Given the description of an element on the screen output the (x, y) to click on. 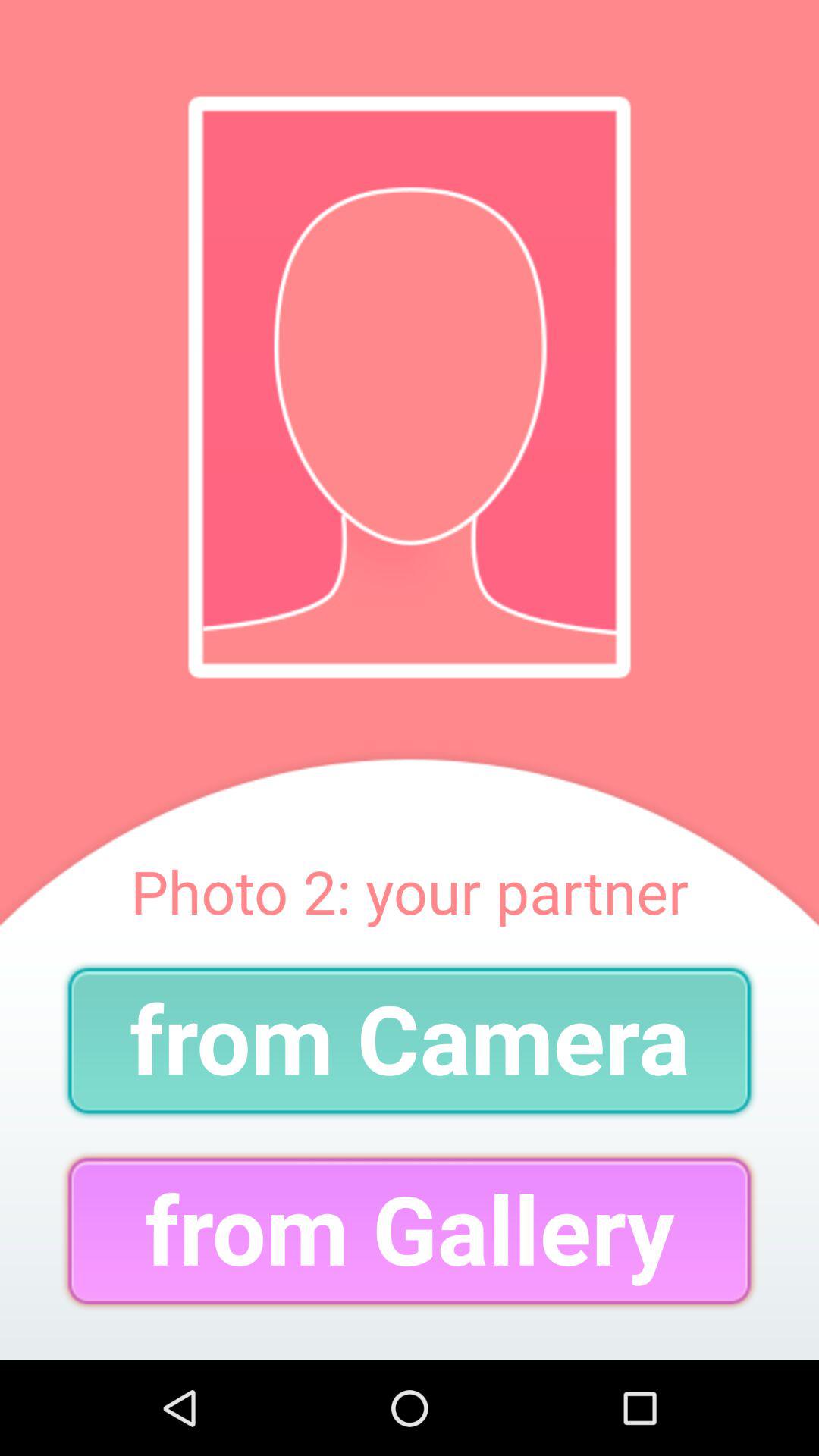
select item below the photo 2 your item (409, 1040)
